Given the description of an element on the screen output the (x, y) to click on. 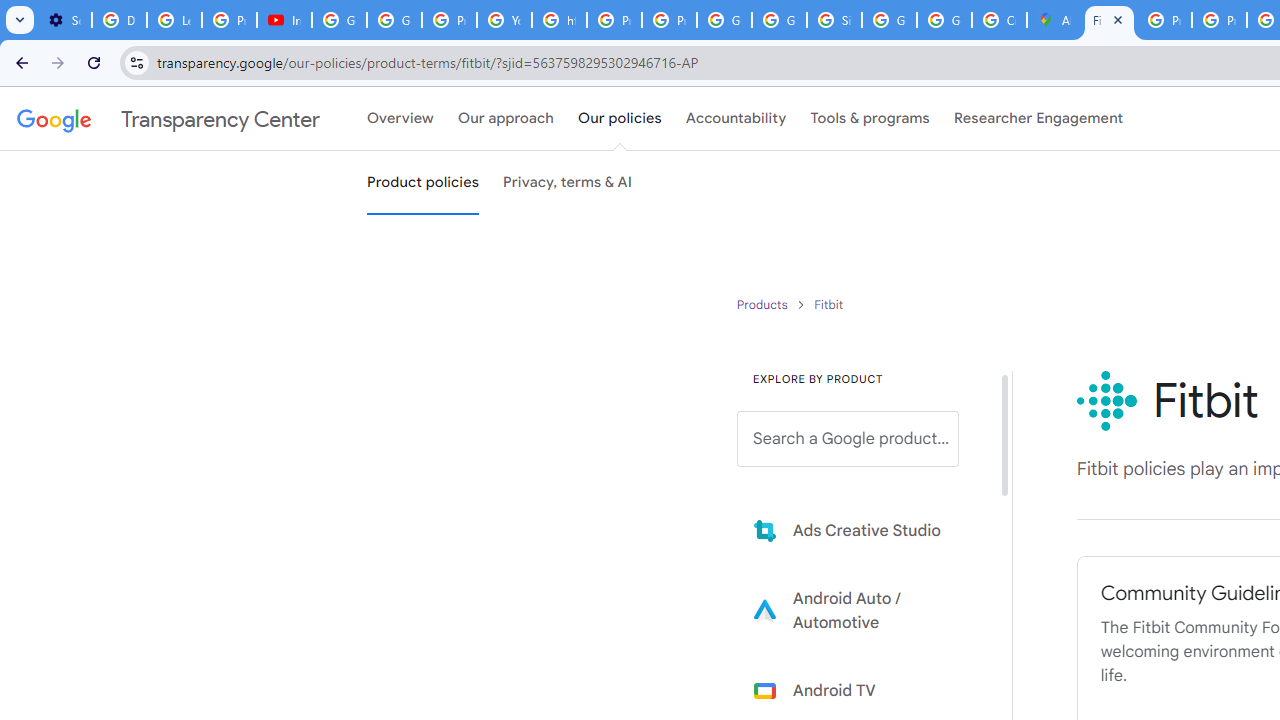
Privacy Help Center - Policies Help (1163, 20)
Settings - Performance (64, 20)
Tools & programs (869, 119)
Accountability (735, 119)
Fitbit Policies and Guidelines - Transparency Center (1108, 20)
Learn how to find your photos - Google Photos Help (174, 20)
Privacy Help Center - Policies Help (614, 20)
